Given the description of an element on the screen output the (x, y) to click on. 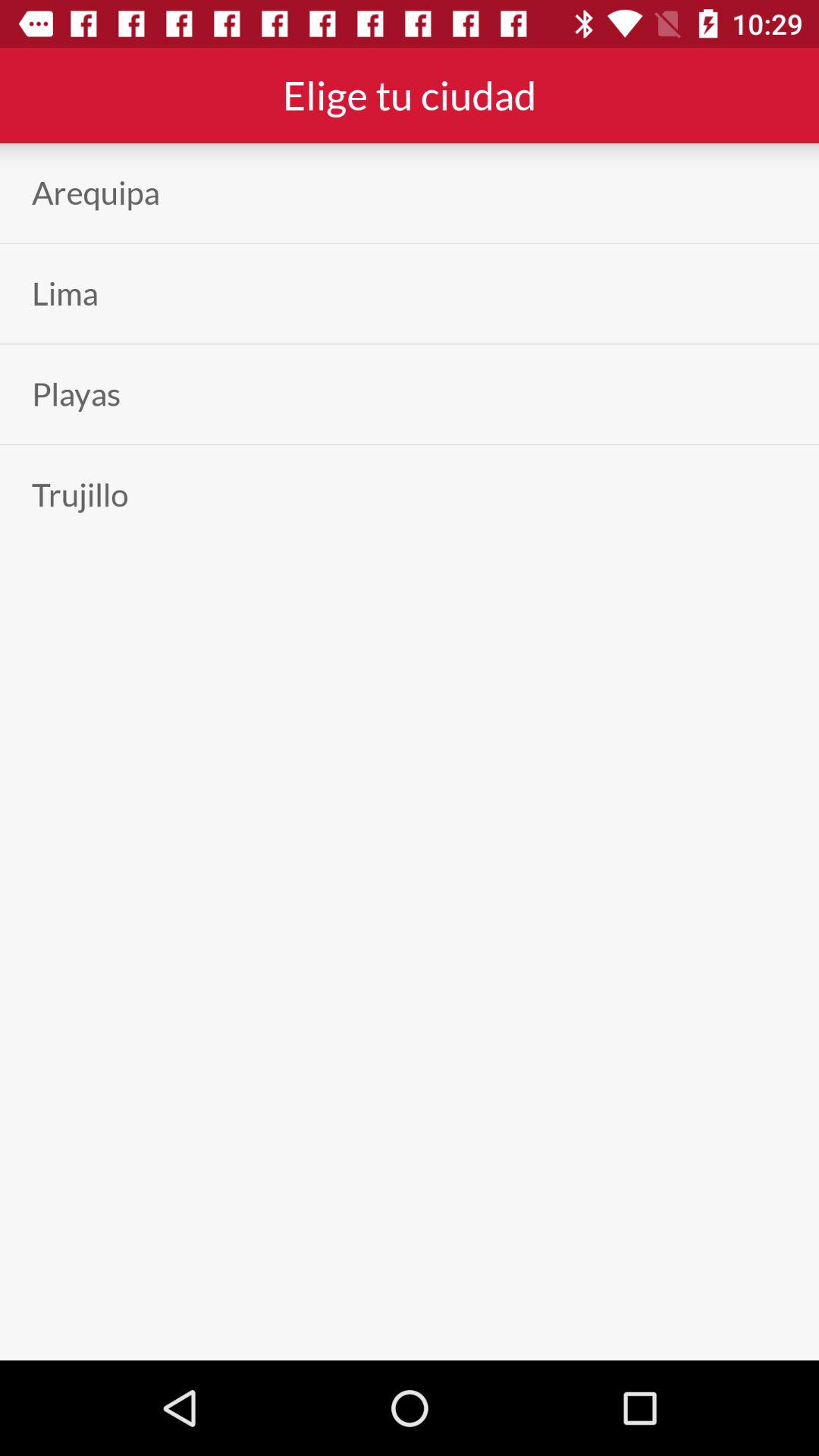
select the arequipa app (95, 193)
